Given the description of an element on the screen output the (x, y) to click on. 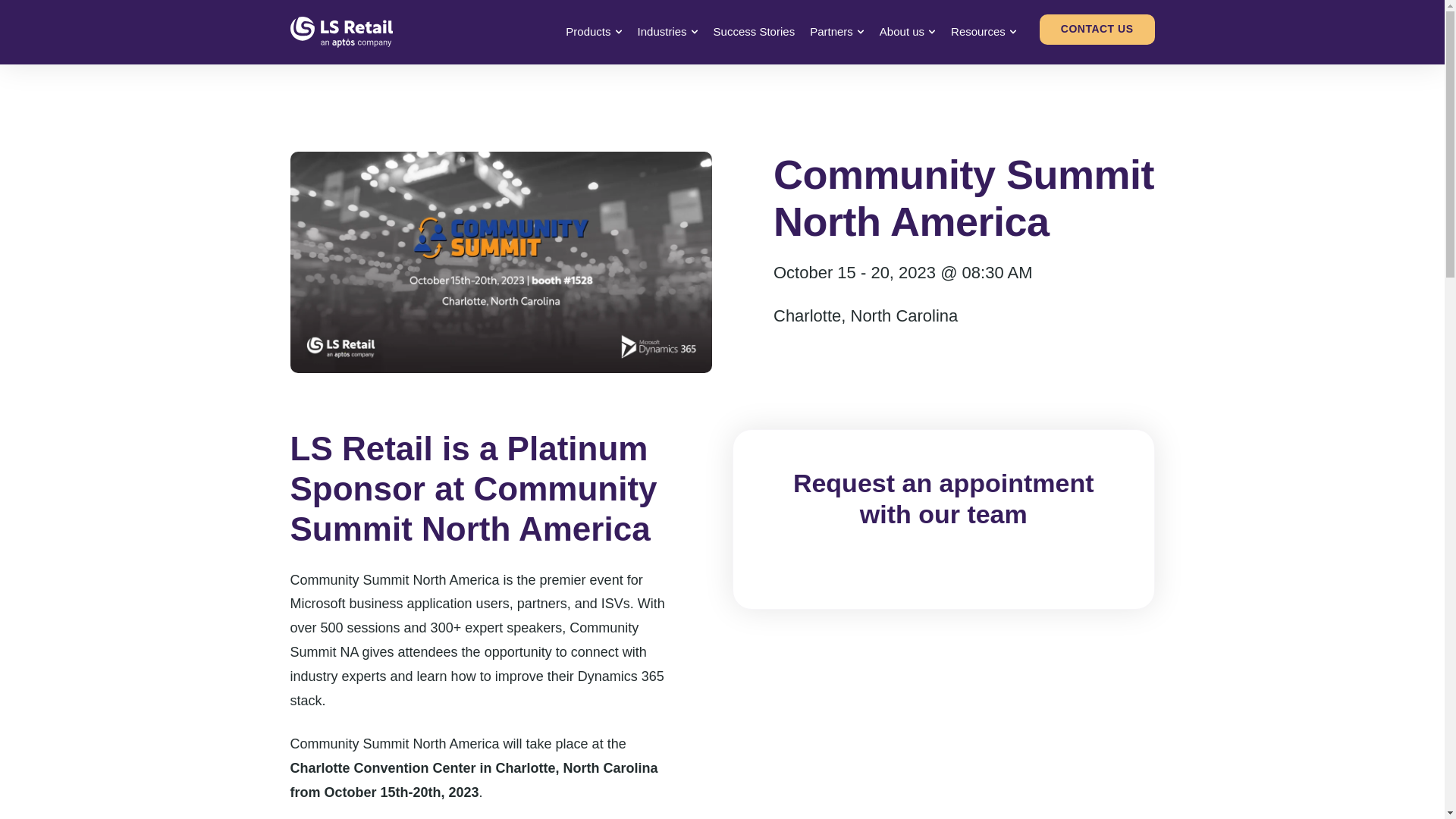
Show submenu for Industries (694, 31)
ls-retail-logo-white (340, 31)
Show submenu for Products (618, 31)
